Given the description of an element on the screen output the (x, y) to click on. 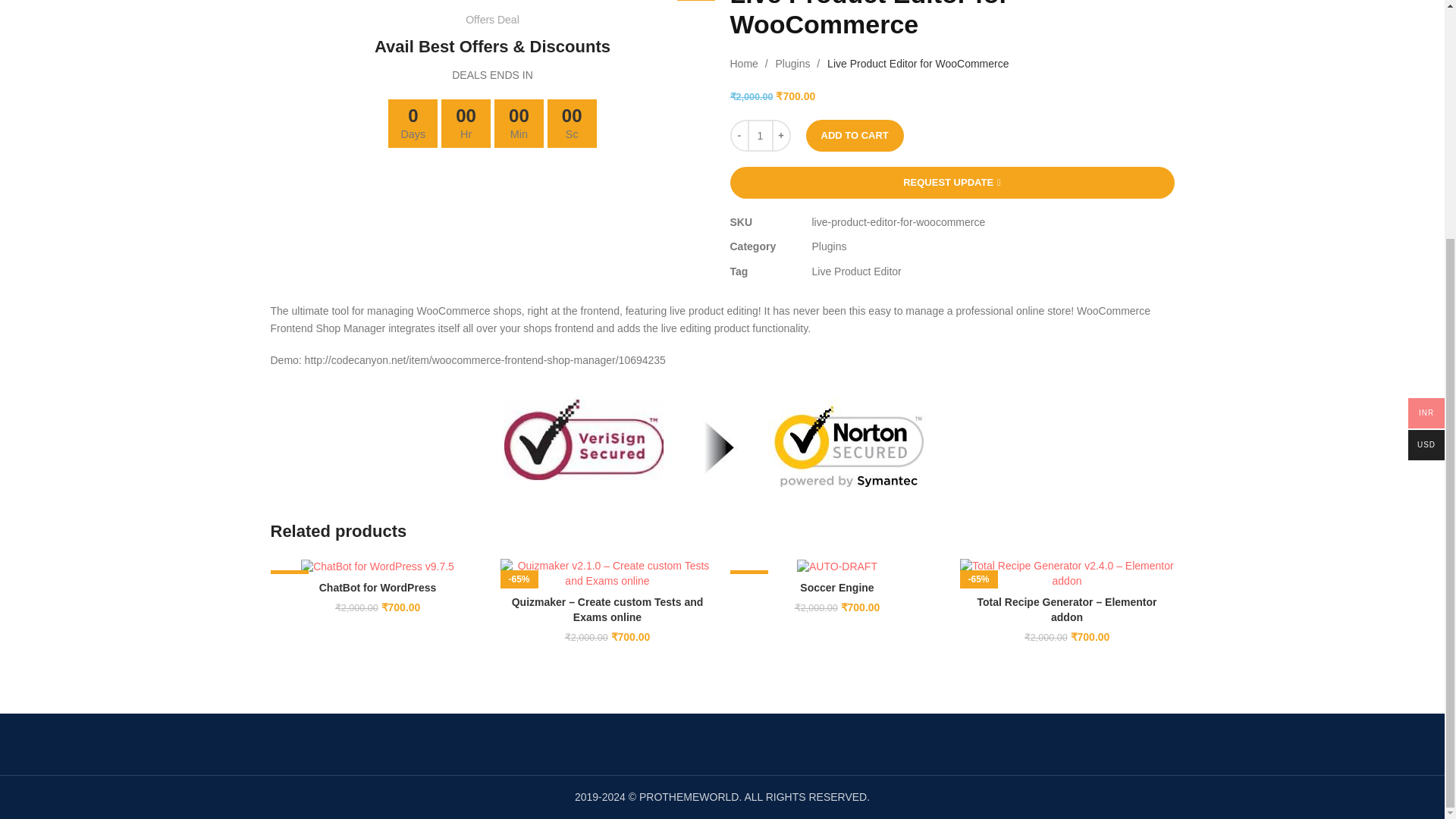
- (738, 135)
1 (760, 135)
ChatBot for WordPress v9.7.5 (377, 566)
AUTO-DRAFT (836, 566)
